Given the description of an element on the screen output the (x, y) to click on. 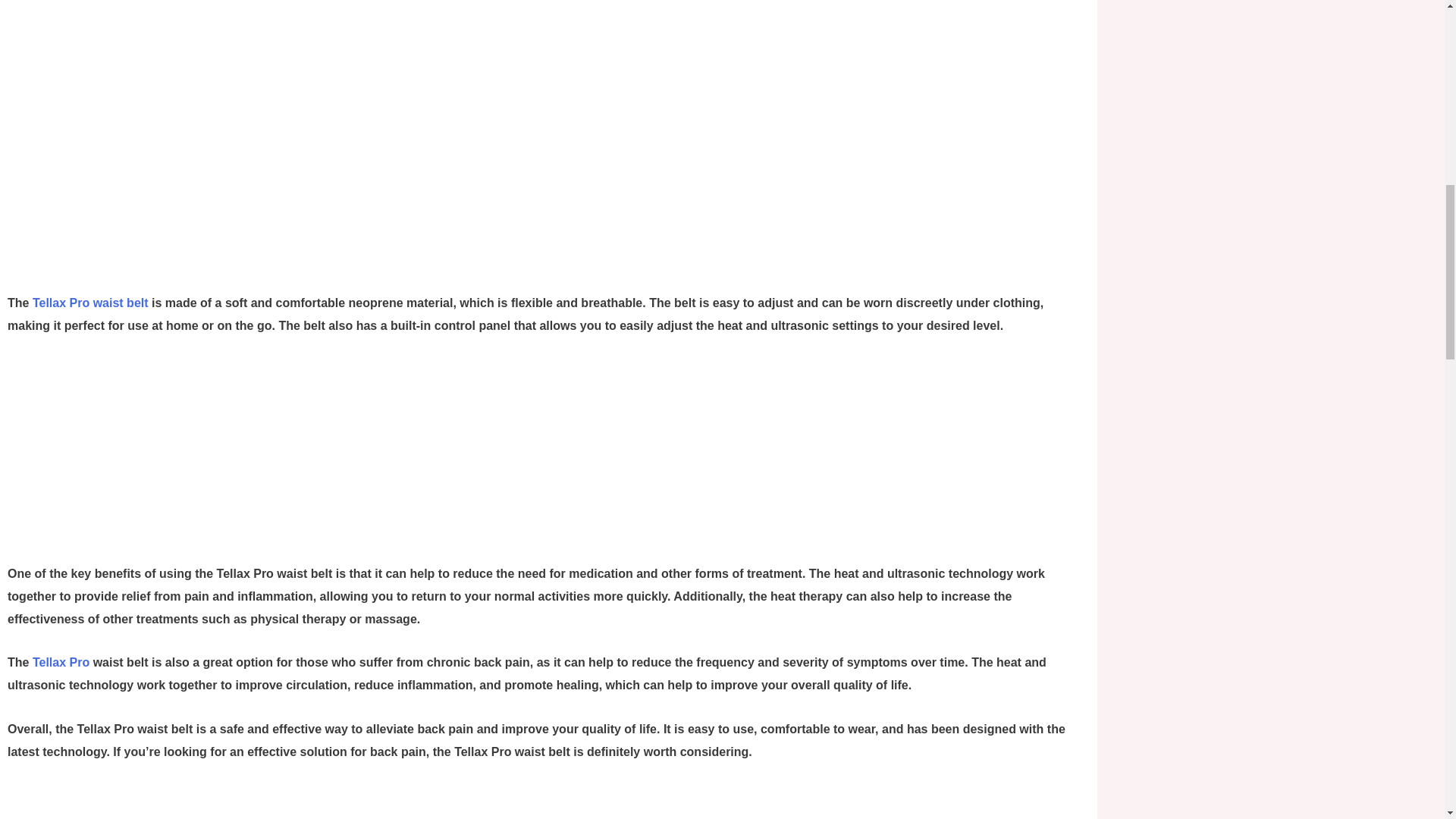
Tellax Pro (60, 662)
Tellax Pro waist belt (90, 302)
